Given the description of an element on the screen output the (x, y) to click on. 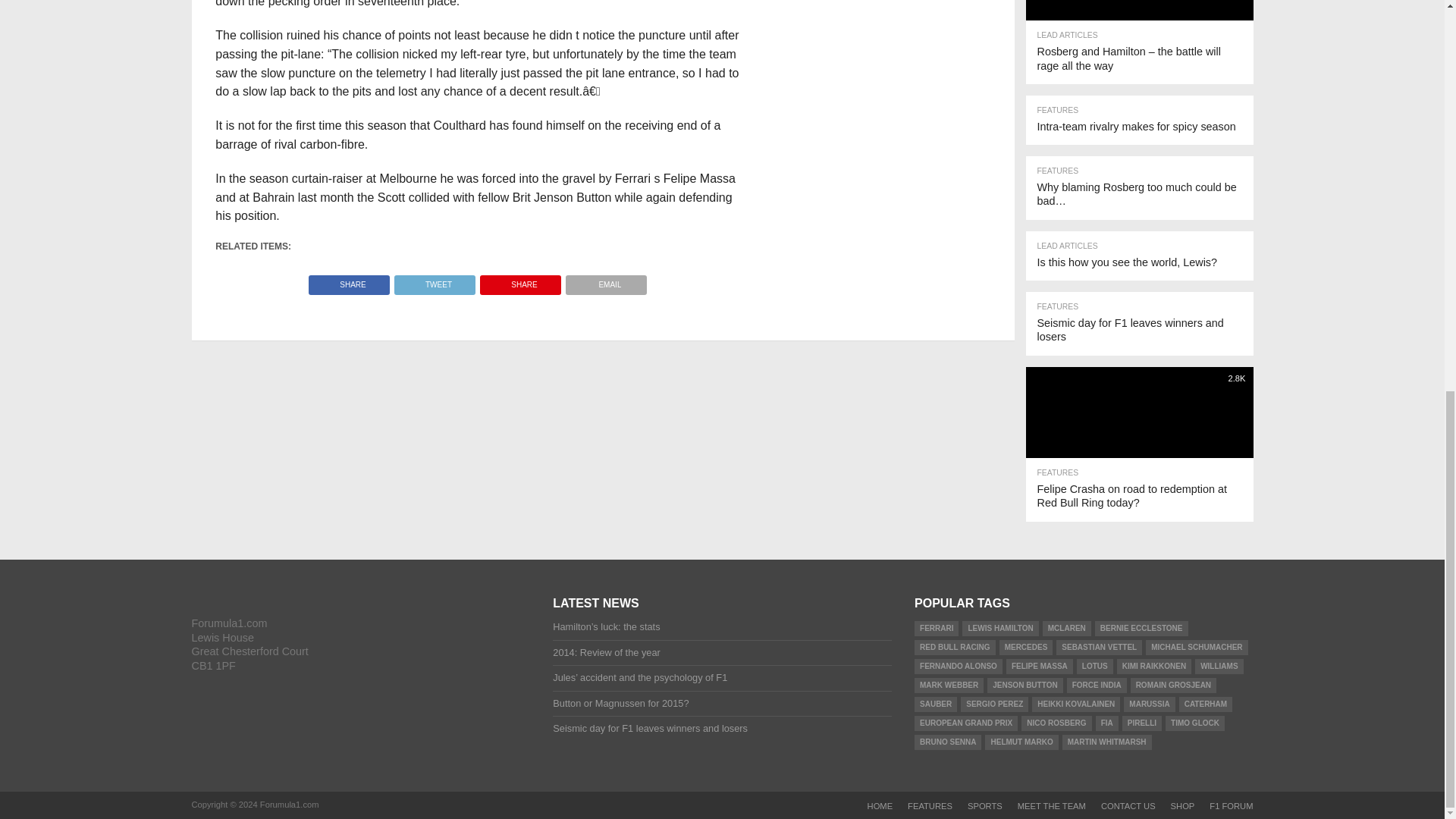
Share on Facebook (349, 280)
Pin This Post (520, 280)
Tweet This Post (434, 280)
